Given the description of an element on the screen output the (x, y) to click on. 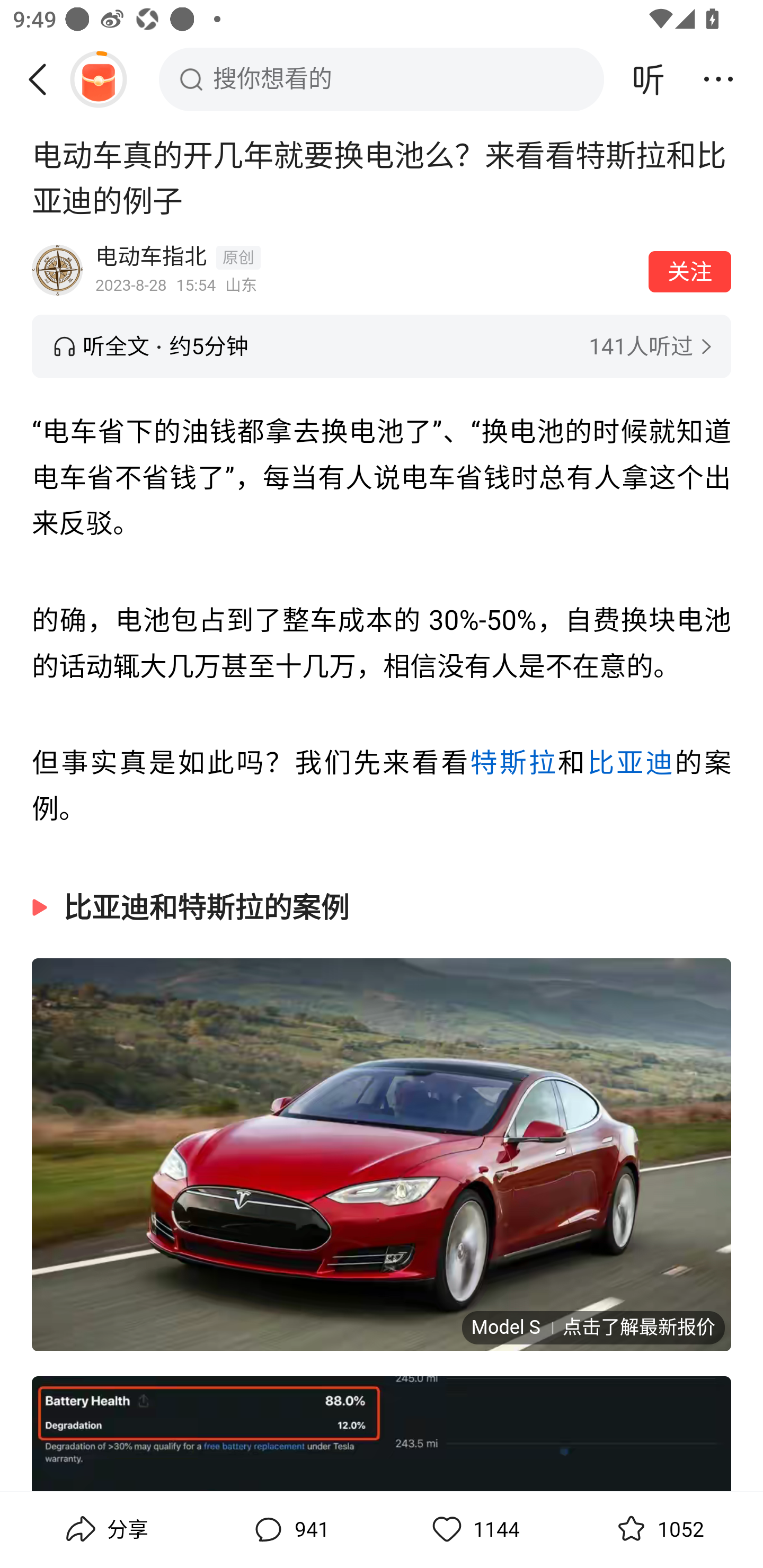
返回 (44, 78)
听头条 (648, 78)
更多操作 (718, 78)
搜你想看的 搜索框，搜你想看的 (381, 79)
阅读赚金币 (98, 79)
作者：电动车指北，2023-8-28 15:54发布，山东，原创 (365, 270)
关注作者 (689, 270)
听全文 约5分钟 141人听过 (381, 346)
特斯拉 (514, 763)
比亚迪 (630, 763)
Model S  点击了解最新报价 Model S点击了解最新报价 (381, 1153)
Model S点击了解最新报价 (592, 1326)
分享 (104, 1529)
评论,941 941 (288, 1529)
收藏,1052 1052 (658, 1529)
